Given the description of an element on the screen output the (x, y) to click on. 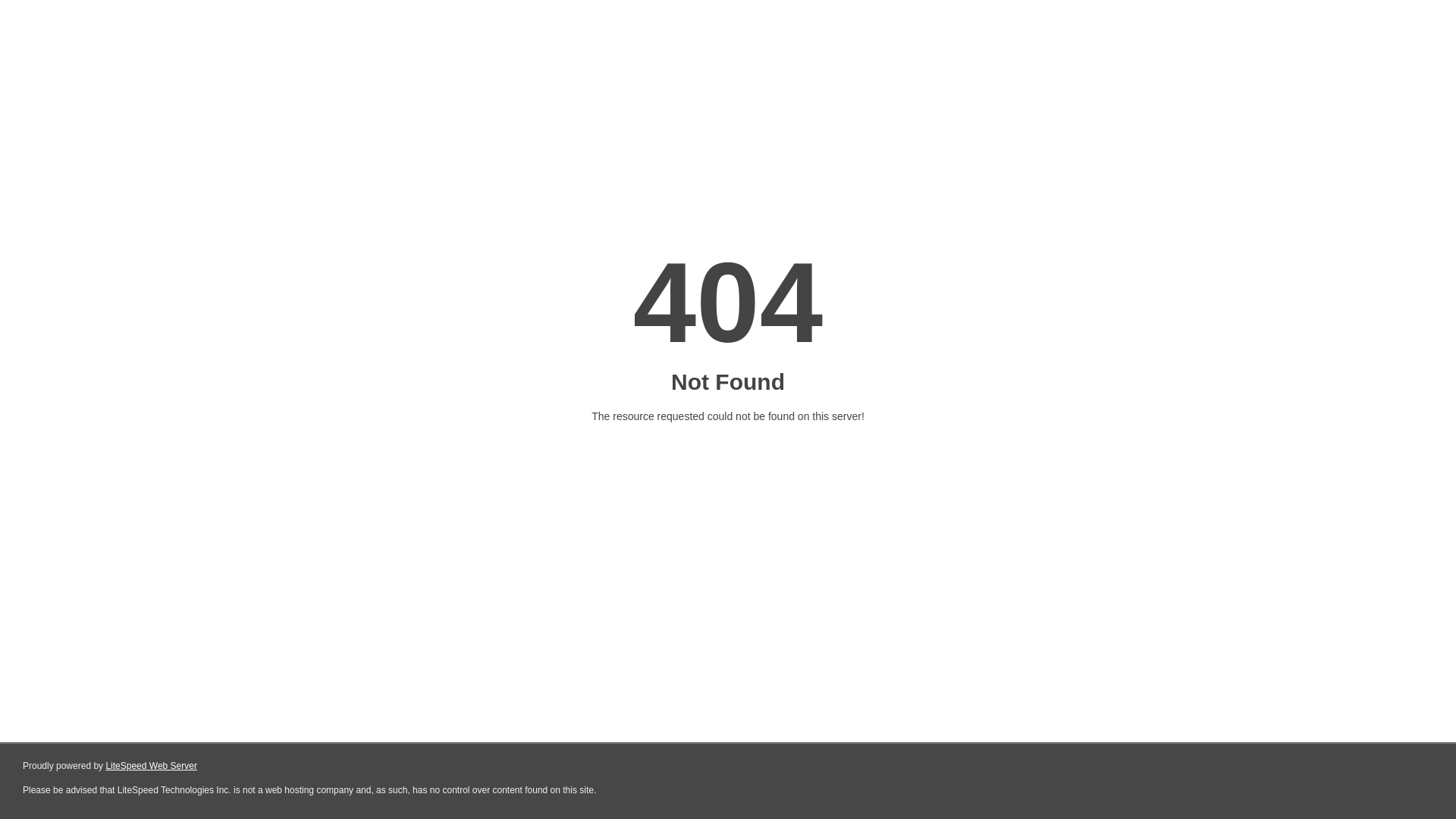
LiteSpeed Web Server Element type: text (151, 765)
